Given the description of an element on the screen output the (x, y) to click on. 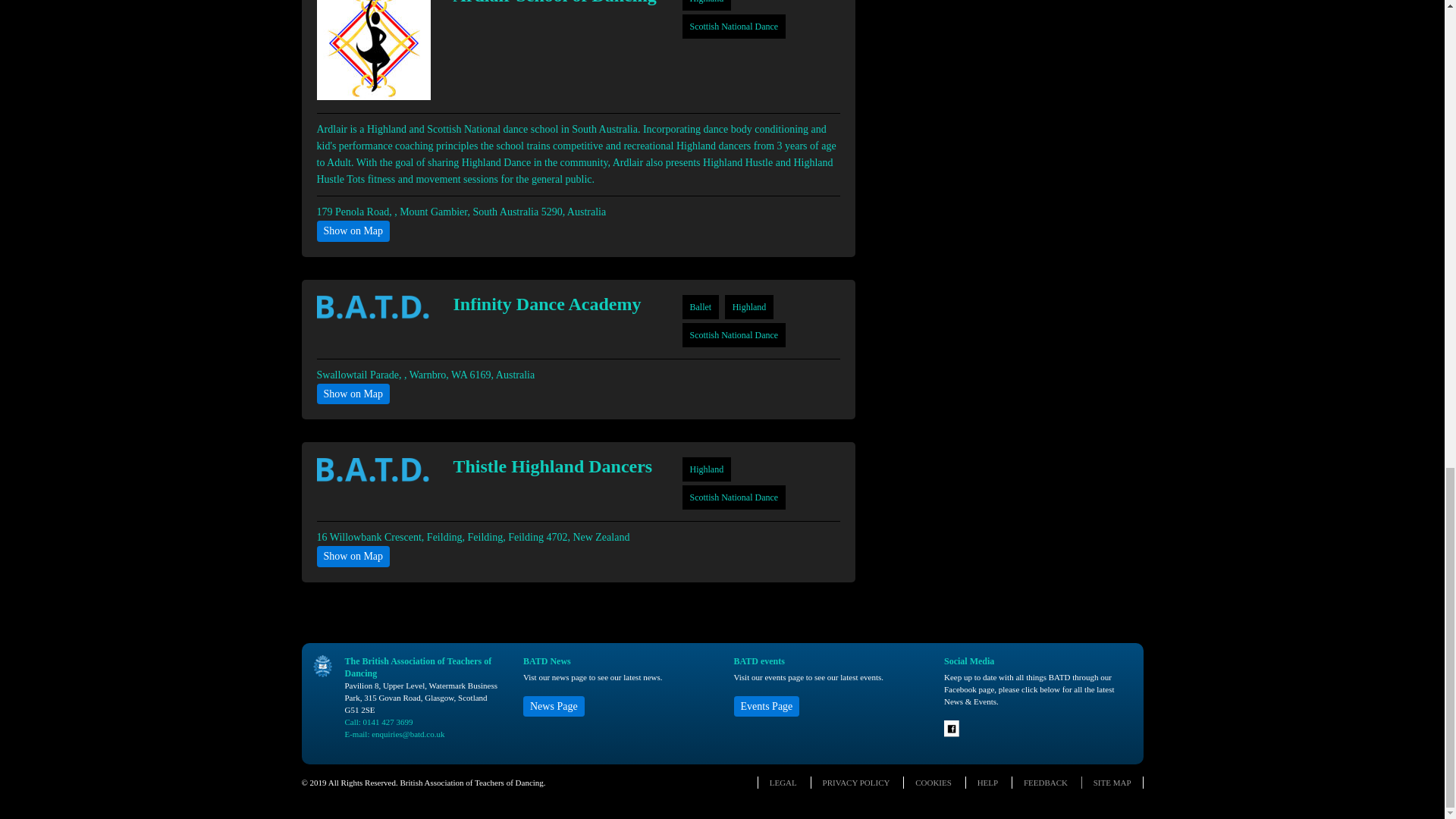
Scottish National Dance (734, 497)
Highland (706, 2)
Infinity Dance Academy (555, 303)
Highland (749, 306)
Ardlair School of Dancing (555, 2)
Ballet (700, 306)
Scottish National Dance (734, 335)
Scottish National Dance (734, 26)
Highland (706, 469)
Show on Map (353, 230)
Show on Map (353, 393)
The-British-Association-of-Teachers-of-Dancing - Facebook (951, 732)
Thistle Highland Dancers (555, 466)
